Given the description of an element on the screen output the (x, y) to click on. 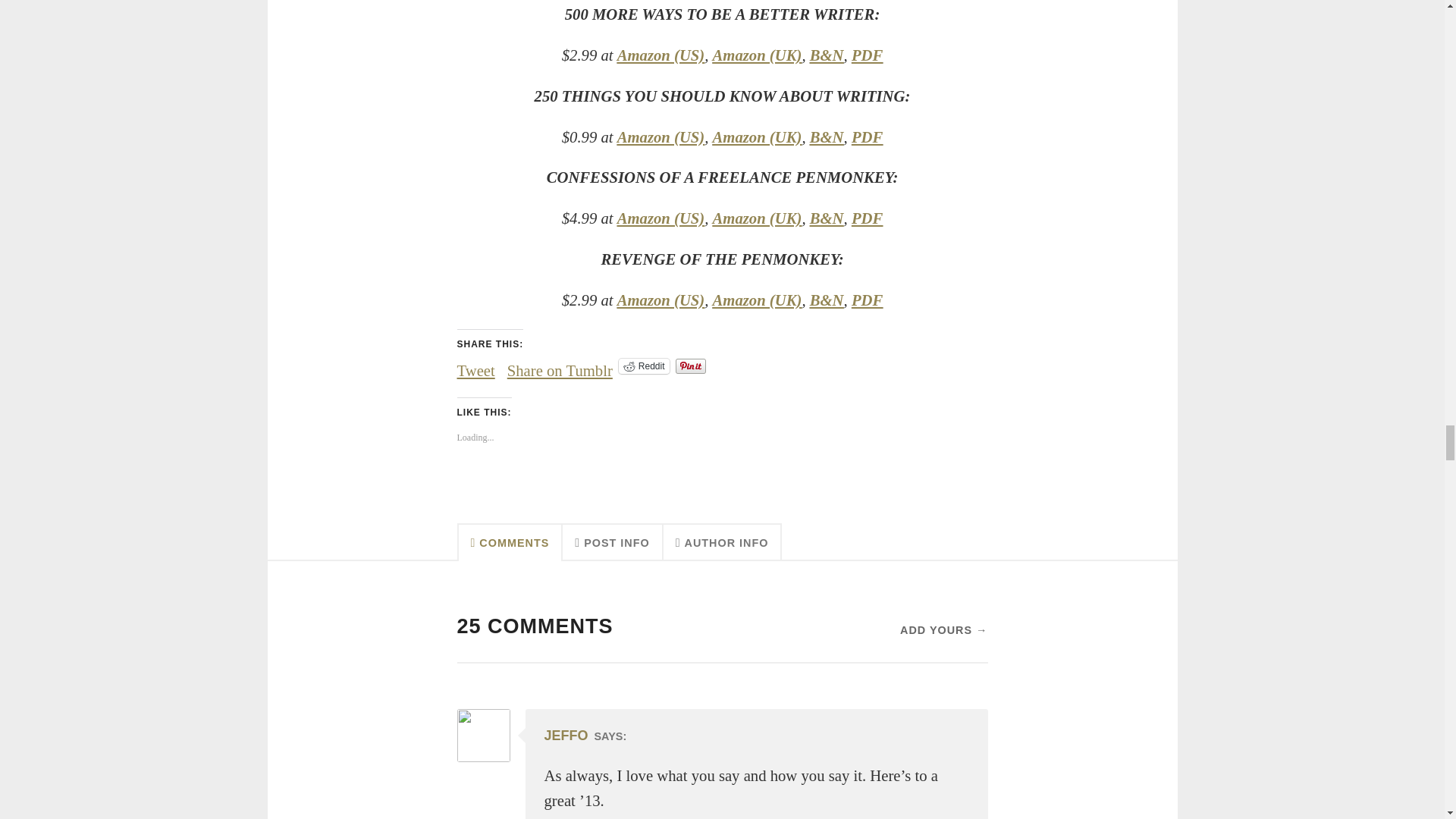
PDF (866, 54)
500 More Ways -- AMAZON UK (757, 54)
500 More Ways -- PDF (866, 54)
500 More Ways: Amazon US (660, 54)
PDF (866, 136)
